Given the description of an element on the screen output the (x, y) to click on. 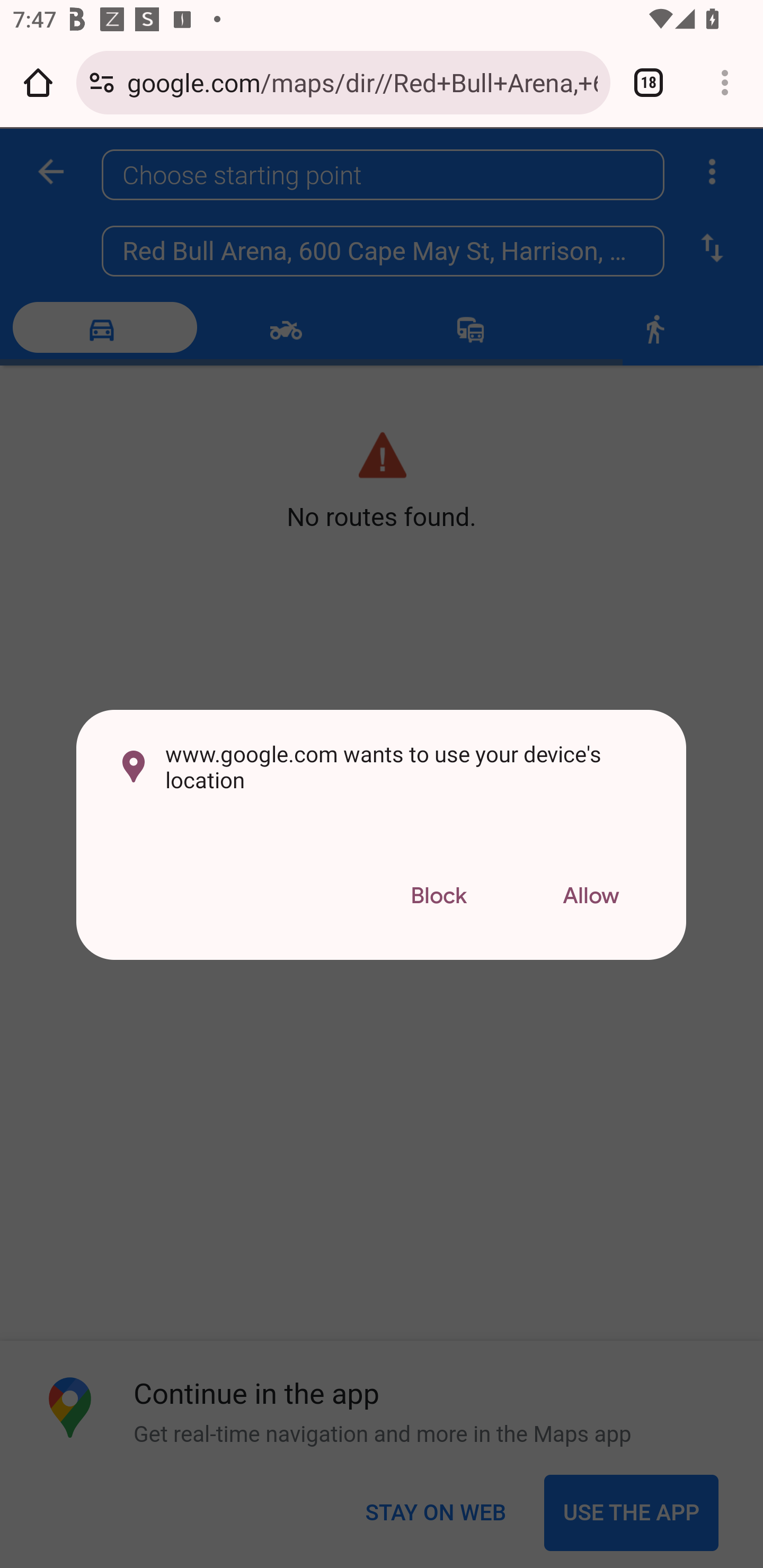
Open the home page (38, 82)
Connection is secure (101, 82)
Switch or close tabs (648, 82)
Customize and control Google Chrome (724, 82)
Block (438, 895)
Allow (590, 895)
